Given the description of an element on the screen output the (x, y) to click on. 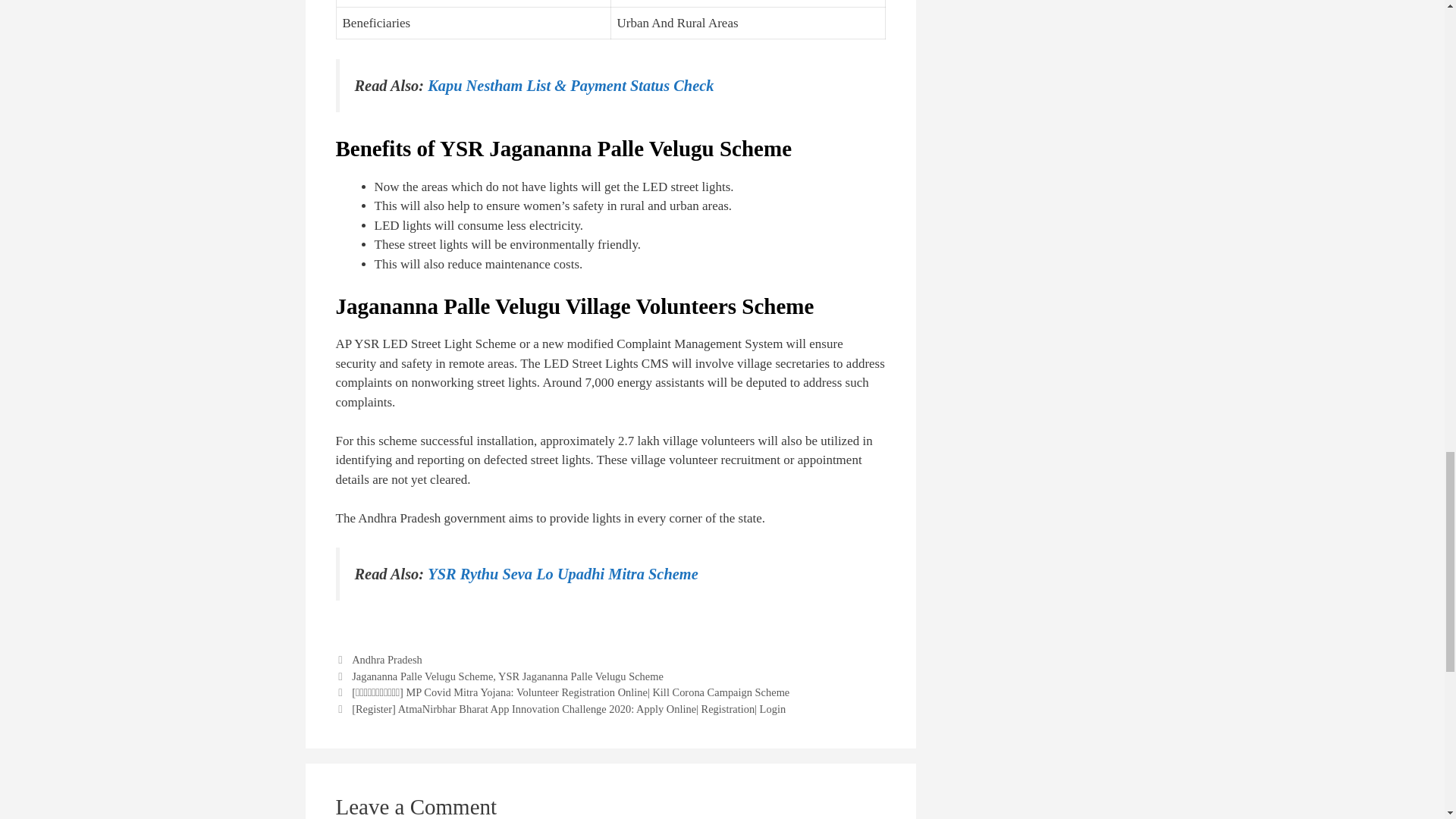
YSR Jagananna Palle Velugu Scheme (580, 676)
Jagananna Palle Velugu Scheme (422, 676)
YSR Rythu Seva Lo Upadhi Mitra Scheme (563, 573)
Andhra Pradesh (387, 659)
